Given the description of an element on the screen output the (x, y) to click on. 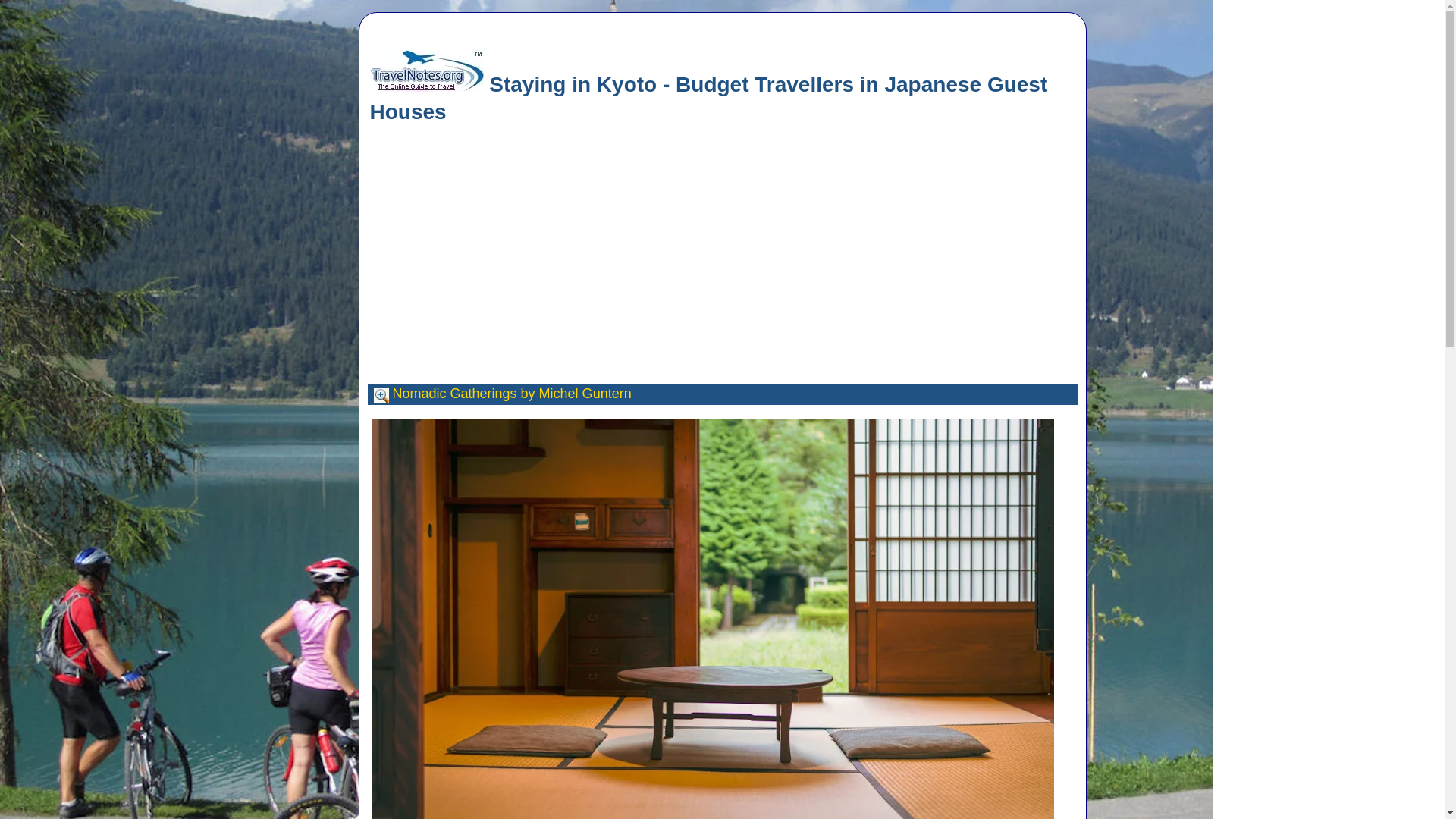
Nomadic Gatherings (454, 393)
Michel Guntern (584, 393)
Travel Search (380, 394)
